Given the description of an element on the screen output the (x, y) to click on. 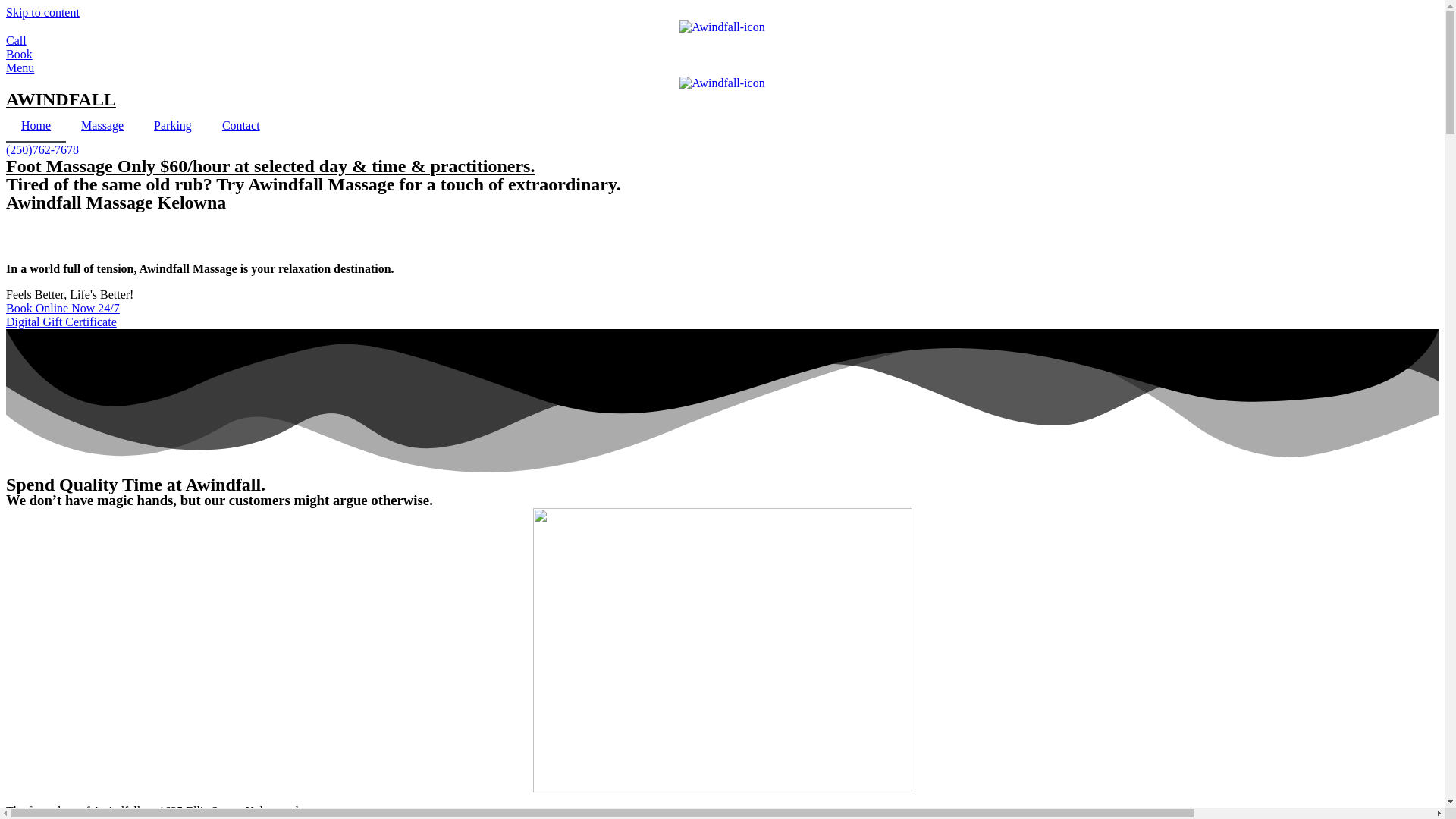
Awindfall-icon Element type: hover (721, 83)
Menu Element type: text (20, 67)
Book Online Now 24/7 Element type: text (62, 307)
(250)762-7678 Element type: text (42, 149)
Digital Gift Certificate Element type: text (61, 321)
Parking Element type: text (172, 125)
Skip to content Element type: text (42, 12)
Massage Element type: text (101, 125)
Book Element type: text (19, 53)
Awindfall-icon Element type: hover (721, 27)
Call Element type: text (16, 40)
Contact Element type: text (241, 125)
AWINDFALL Element type: text (61, 99)
Home Element type: text (35, 125)
